Given the description of an element on the screen output the (x, y) to click on. 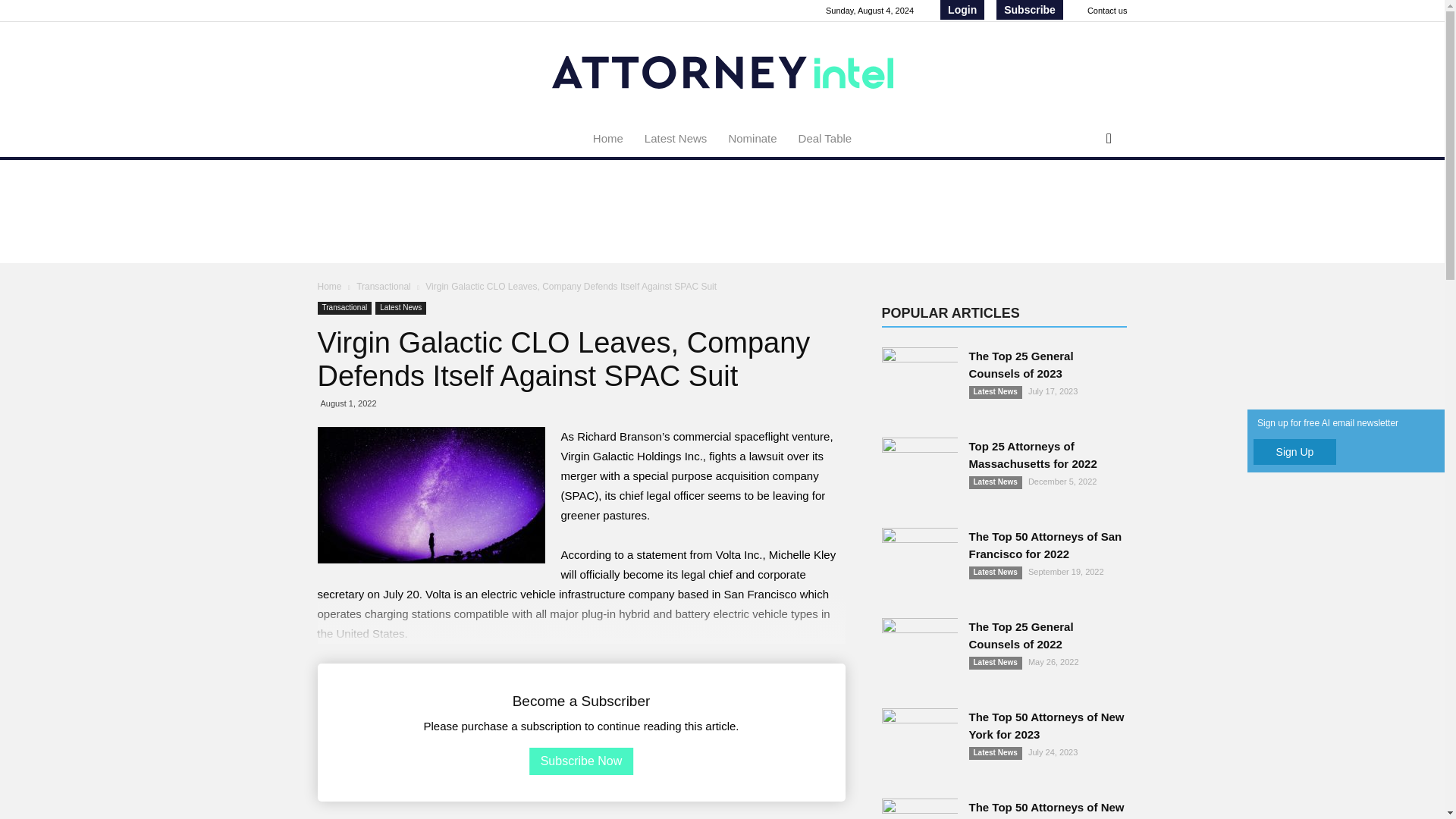
View all posts in Transactional (384, 286)
Home (328, 286)
Transactional (384, 286)
Sign Up (1294, 451)
Deal Table (825, 138)
Subscribe (1028, 9)
Michael Colglazier (430, 494)
Transactional (344, 308)
Login (962, 9)
Latest News (400, 308)
Nominate (752, 138)
Subscribe Now (581, 760)
Contact us (1106, 10)
Home (607, 138)
Latest News (675, 138)
